Given the description of an element on the screen output the (x, y) to click on. 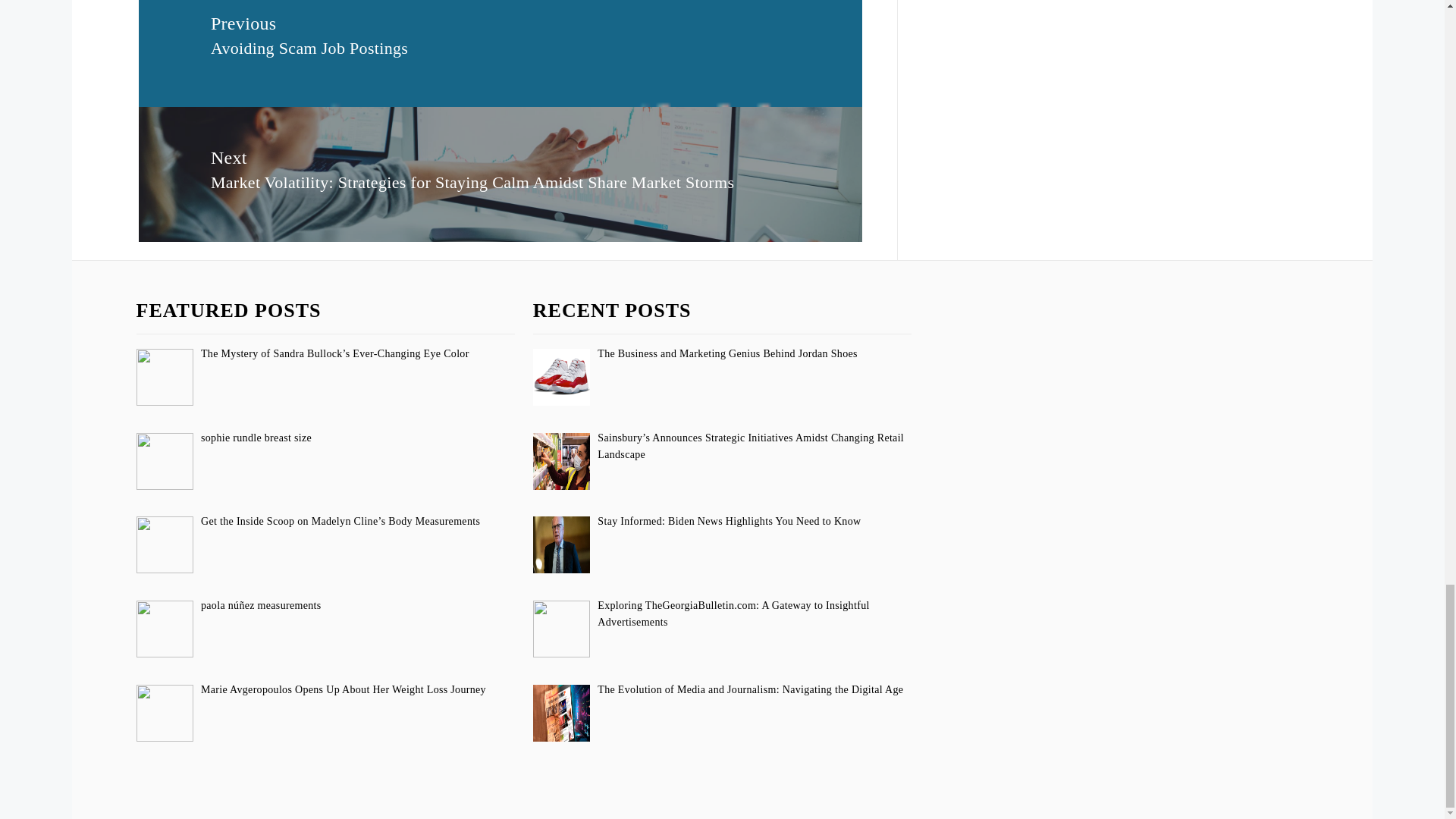
Jordan Shoes (560, 376)
